Given the description of an element on the screen output the (x, y) to click on. 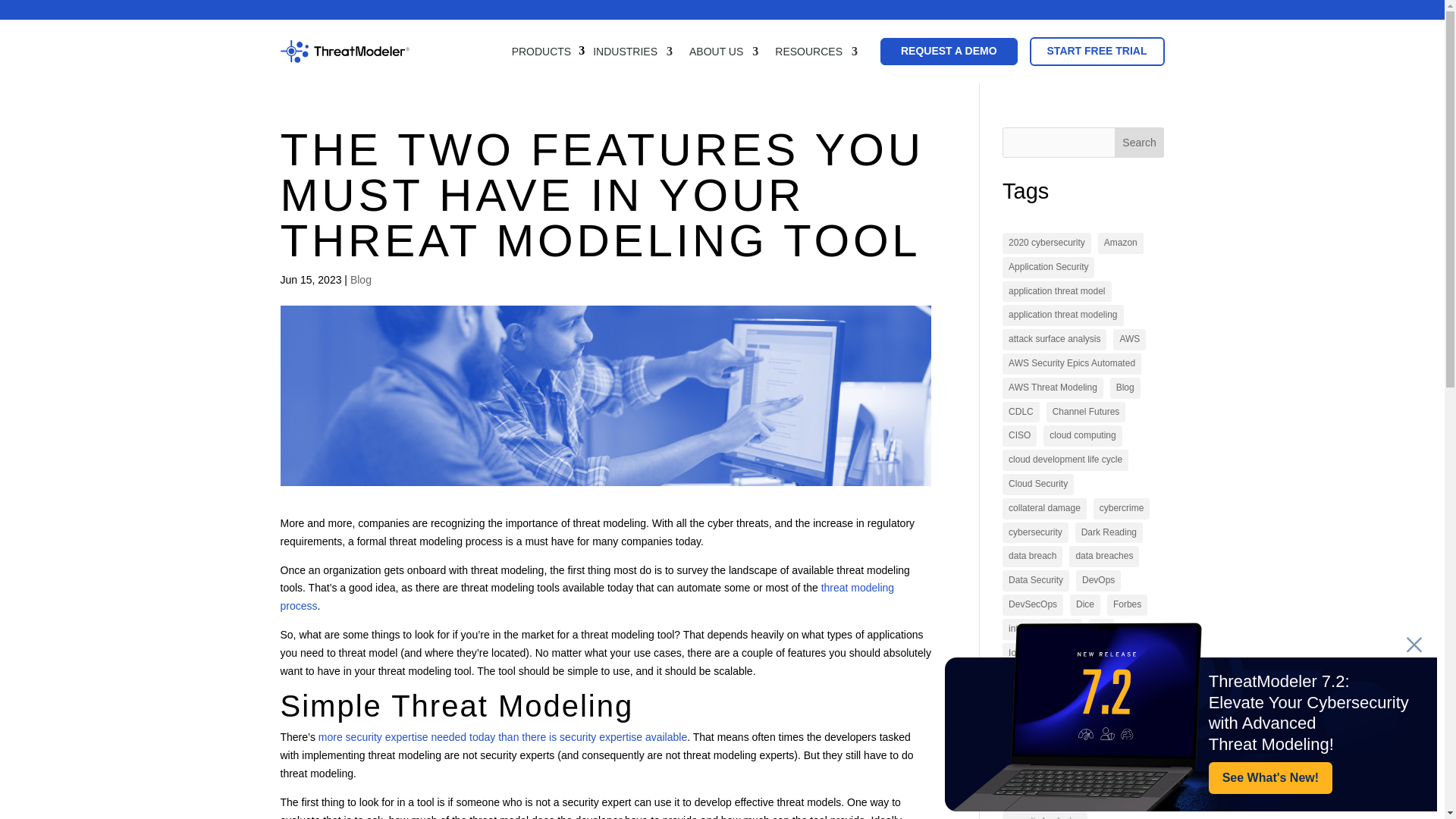
Popup CTA (1190, 716)
RESOURCES (815, 51)
ABOUT US (723, 51)
PRODUCTS (542, 51)
INDUSTRIES (632, 51)
